Given the description of an element on the screen output the (x, y) to click on. 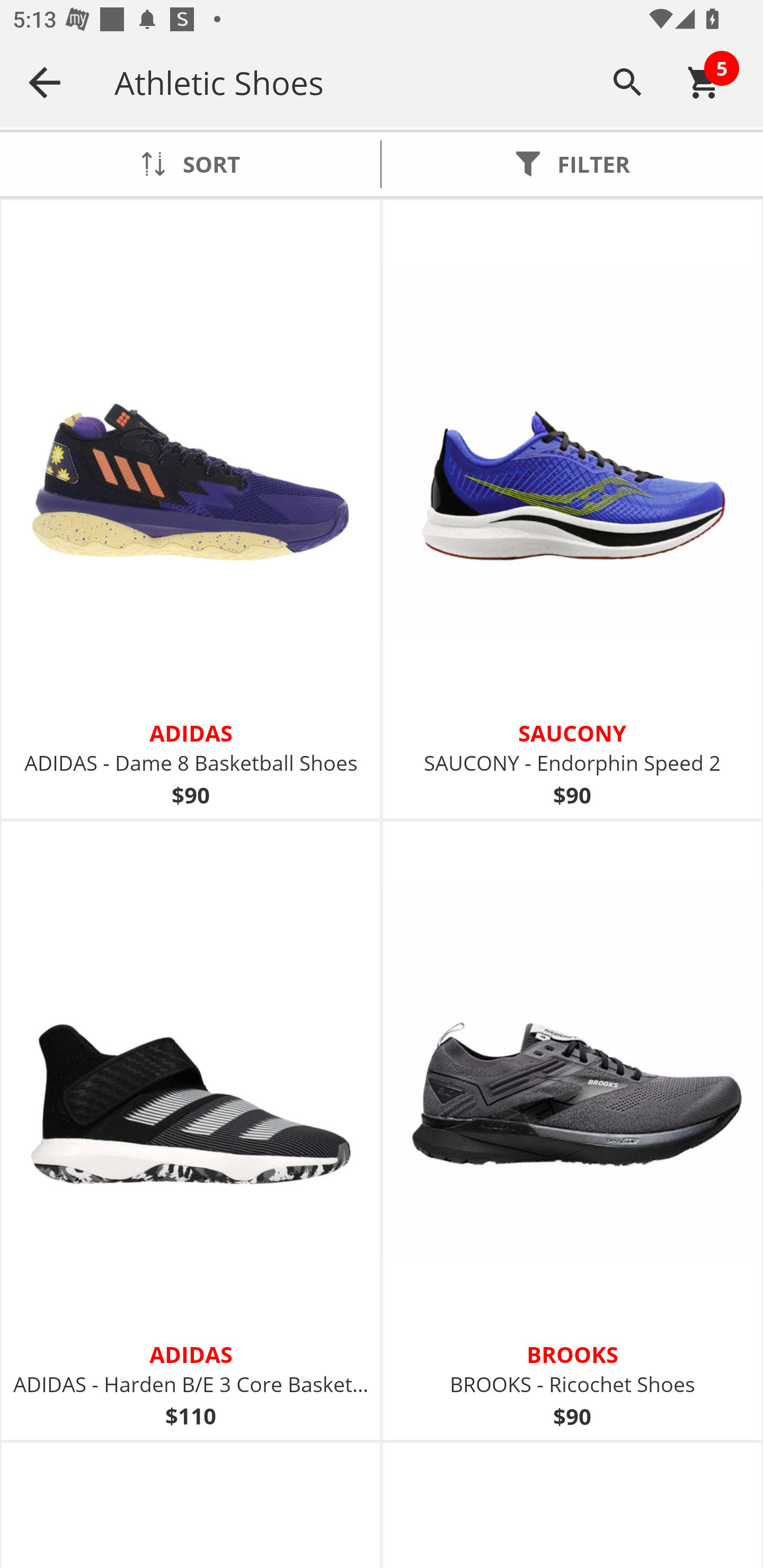
Navigate up (44, 82)
SORT (190, 163)
FILTER (572, 163)
ADIDAS ADIDAS - Dame 8 Basketball Shoes $90 (190, 509)
SAUCONY SAUCONY - Endorphin Speed 2 $90 (572, 509)
BROOKS BROOKS - Ricochet Shoes $90 (572, 1130)
